Given the description of an element on the screen output the (x, y) to click on. 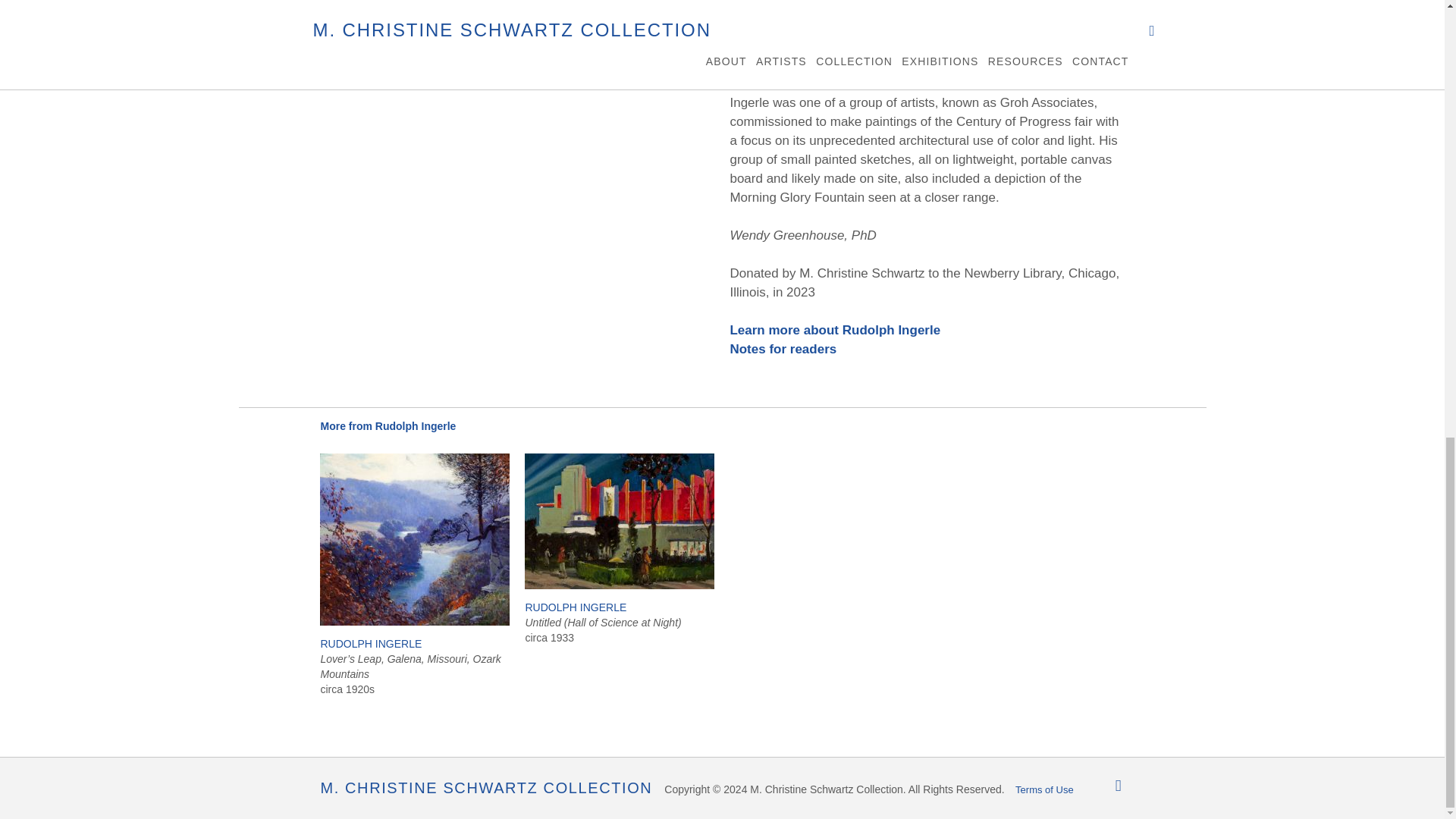
Notes for readers (782, 349)
Terms of Use (1044, 789)
Terms of Use (1044, 789)
M. CHRISTINE SCHWARTZ COLLECTION (486, 787)
Learn more about Rudolph Ingerle (834, 329)
